Given the description of an element on the screen output the (x, y) to click on. 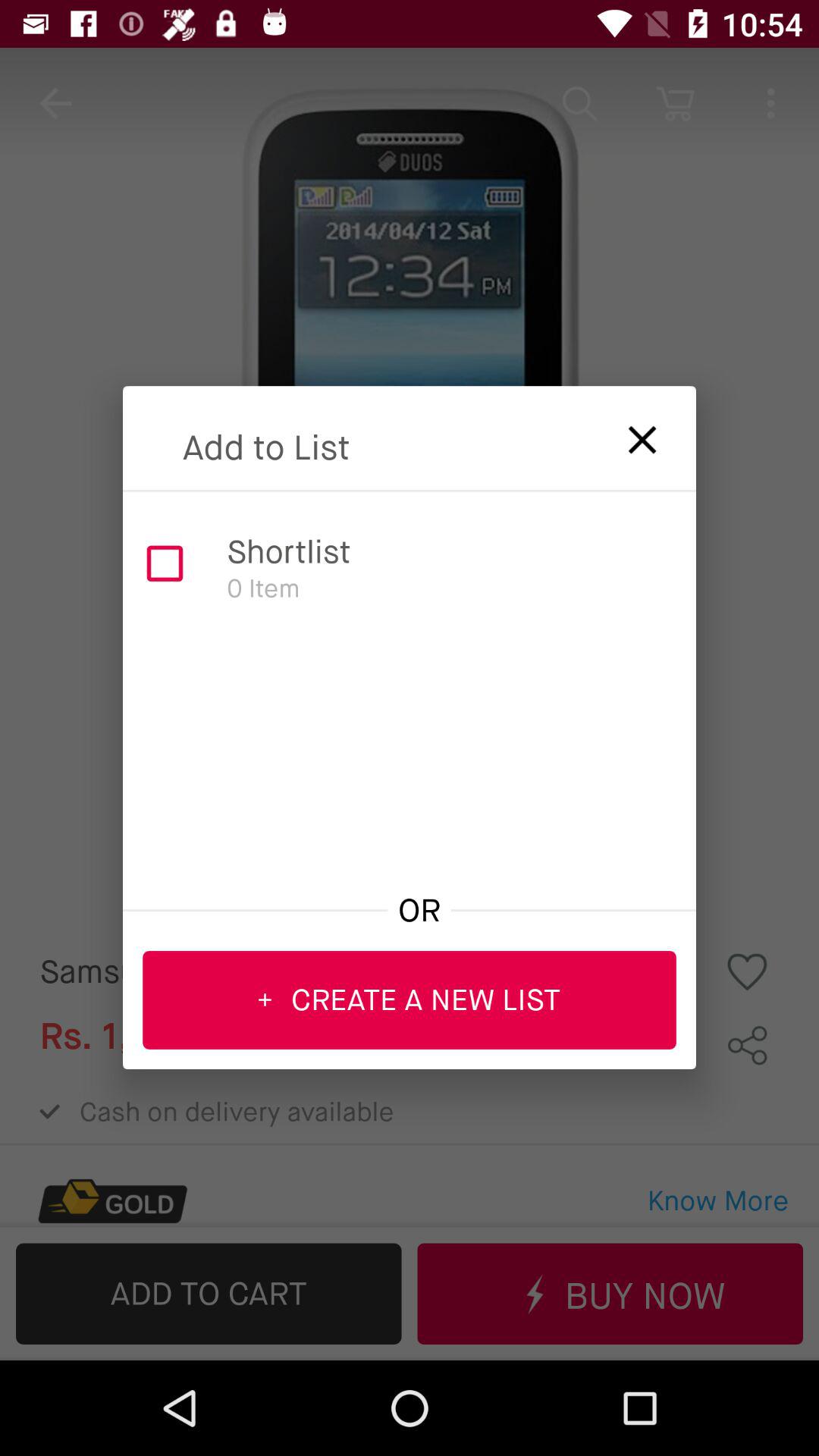
cancel (632, 435)
